Given the description of an element on the screen output the (x, y) to click on. 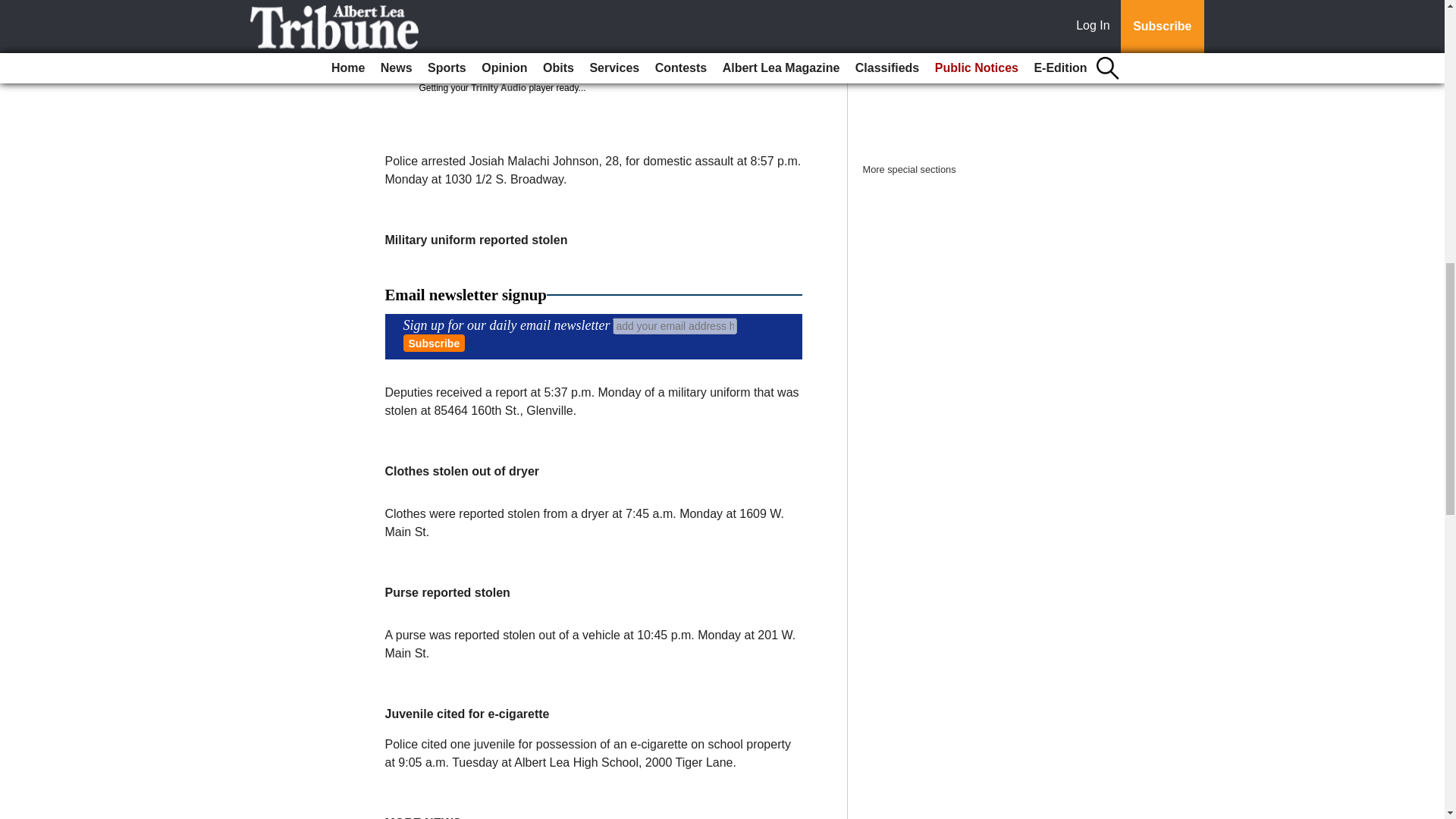
Subscribe (434, 343)
